Given the description of an element on the screen output the (x, y) to click on. 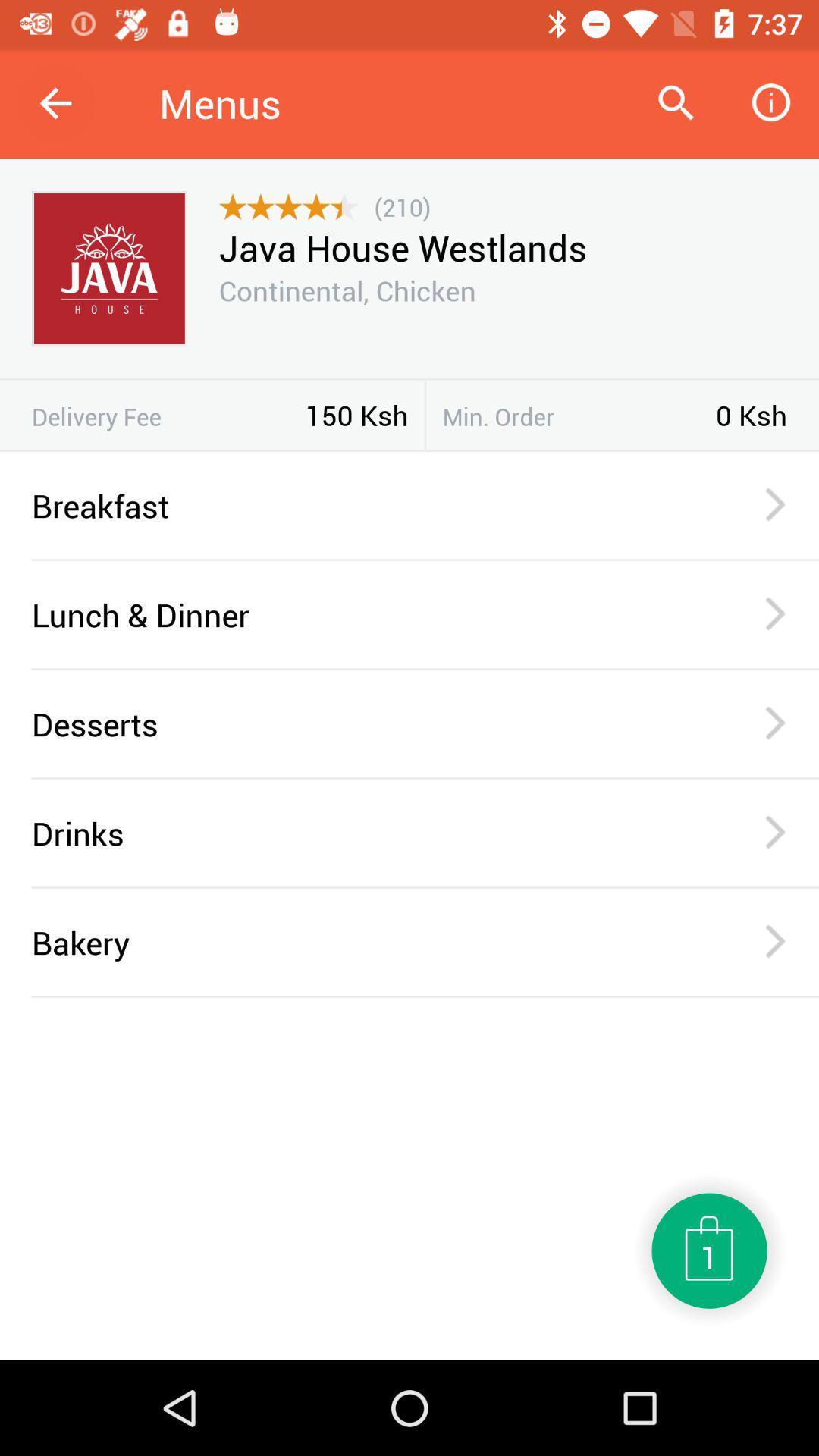
turn off icon next to menus item (55, 103)
